Given the description of an element on the screen output the (x, y) to click on. 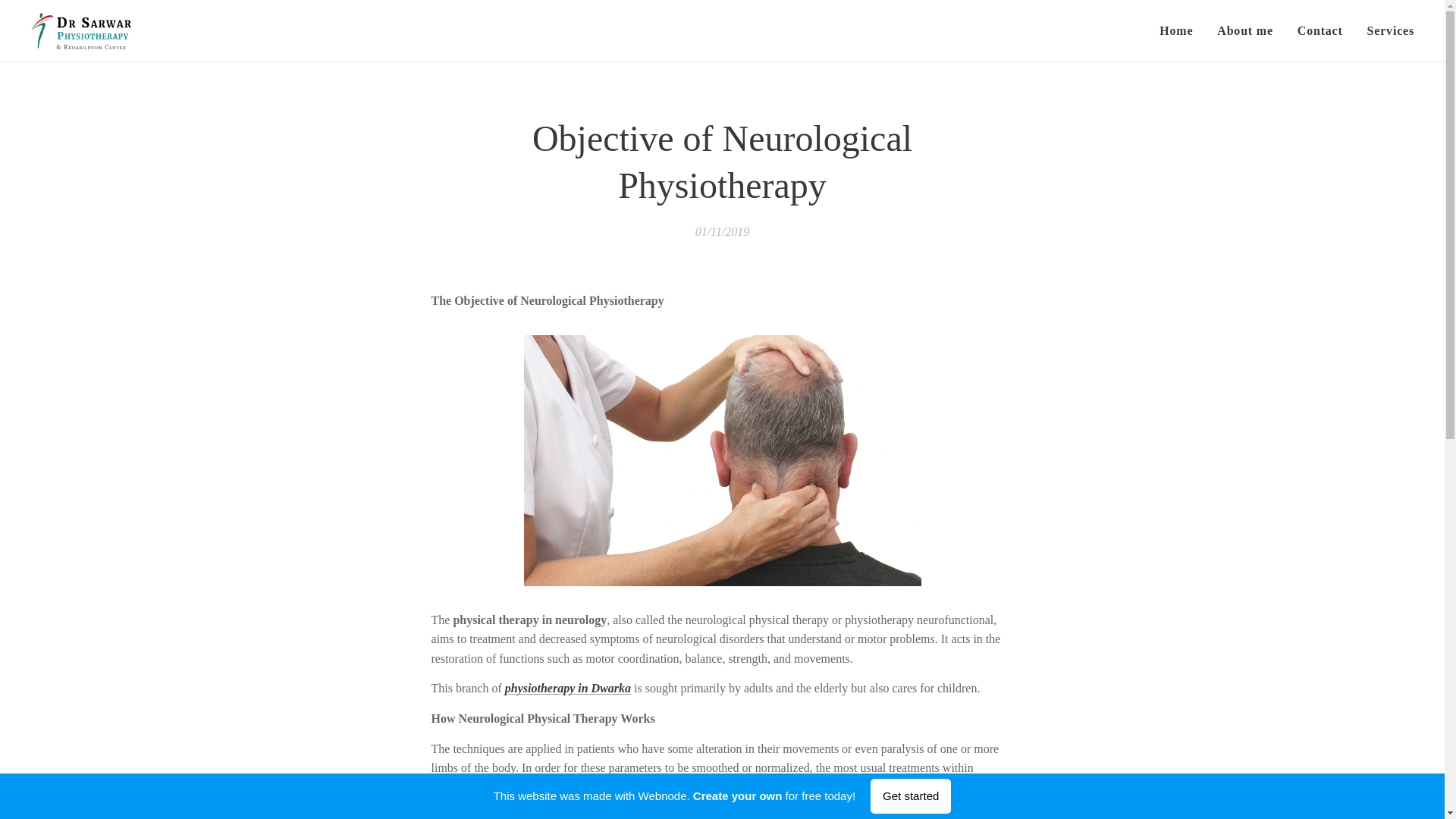
Contact (1320, 30)
About me (1245, 30)
physiotherapy in Dwarka (566, 688)
Services (1384, 30)
Home (1180, 30)
